Given the description of an element on the screen output the (x, y) to click on. 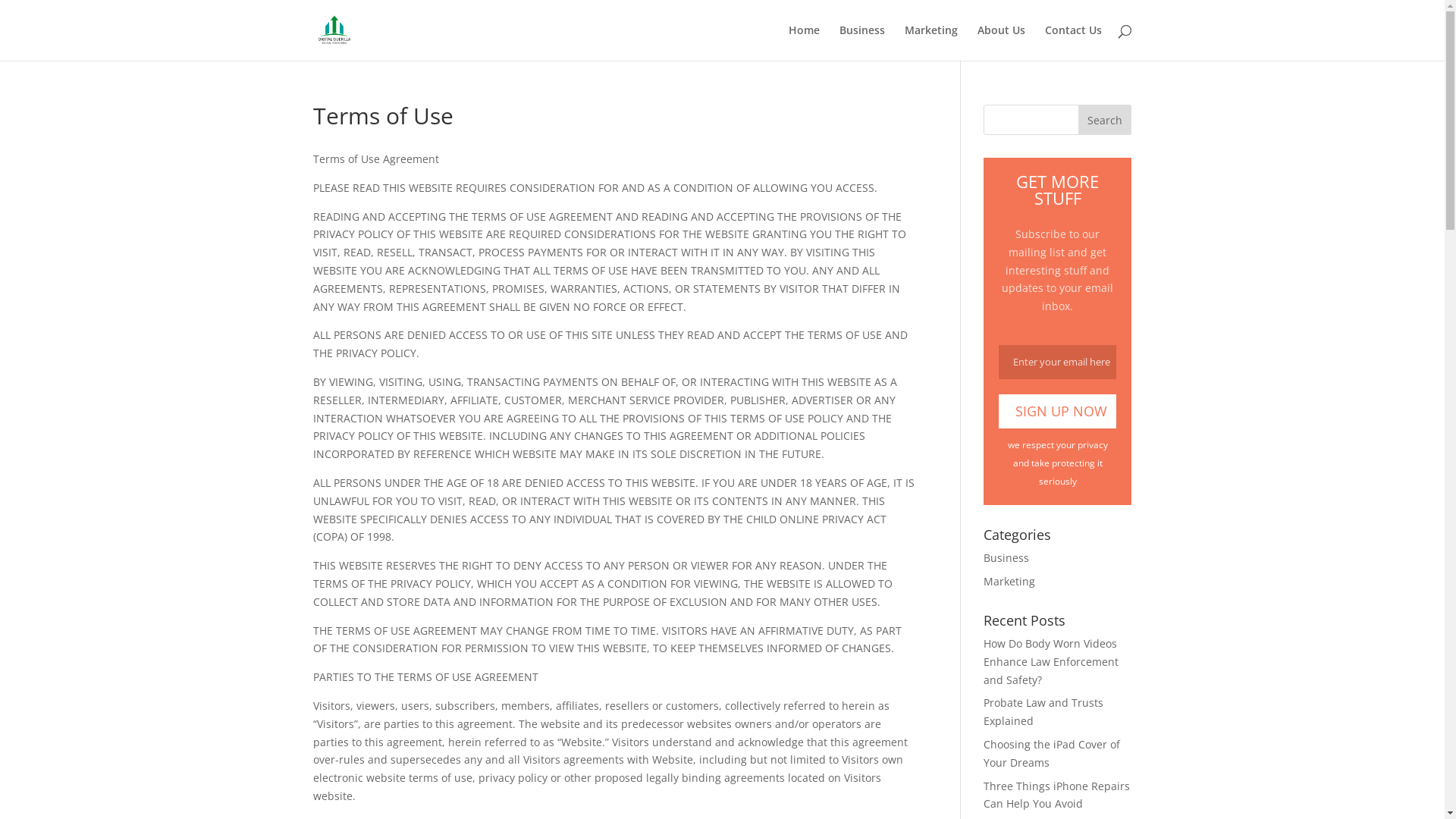
Business Element type: text (1006, 557)
How Do Body Worn Videos Enhance Law Enforcement and Safety? Element type: text (1050, 661)
Contact Us Element type: text (1072, 42)
Three Things iPhone Repairs Can Help You Avoid Element type: text (1056, 794)
Sign Up Now Element type: text (1057, 411)
About Us Element type: text (1000, 42)
Business Element type: text (861, 42)
Choosing the iPad Cover of Your Dreams Element type: text (1051, 753)
Search Element type: text (1104, 119)
Home Element type: text (803, 42)
Marketing Element type: text (930, 42)
Marketing Element type: text (1009, 581)
Probate Law and Trusts Explained Element type: text (1043, 711)
